Given the description of an element on the screen output the (x, y) to click on. 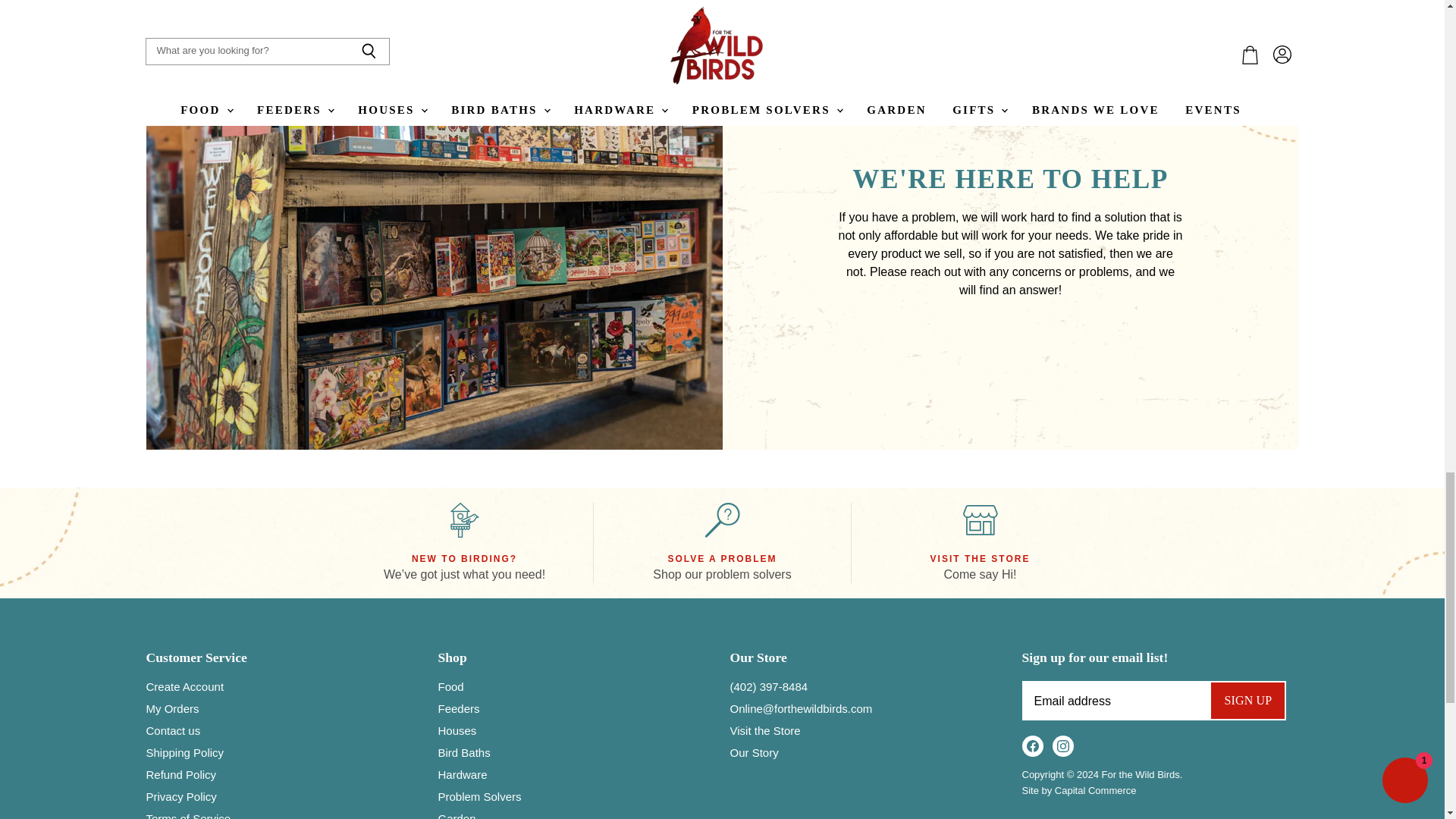
Instagram (1063, 746)
Facebook (1032, 746)
Store icon (979, 519)
